Given the description of an element on the screen output the (x, y) to click on. 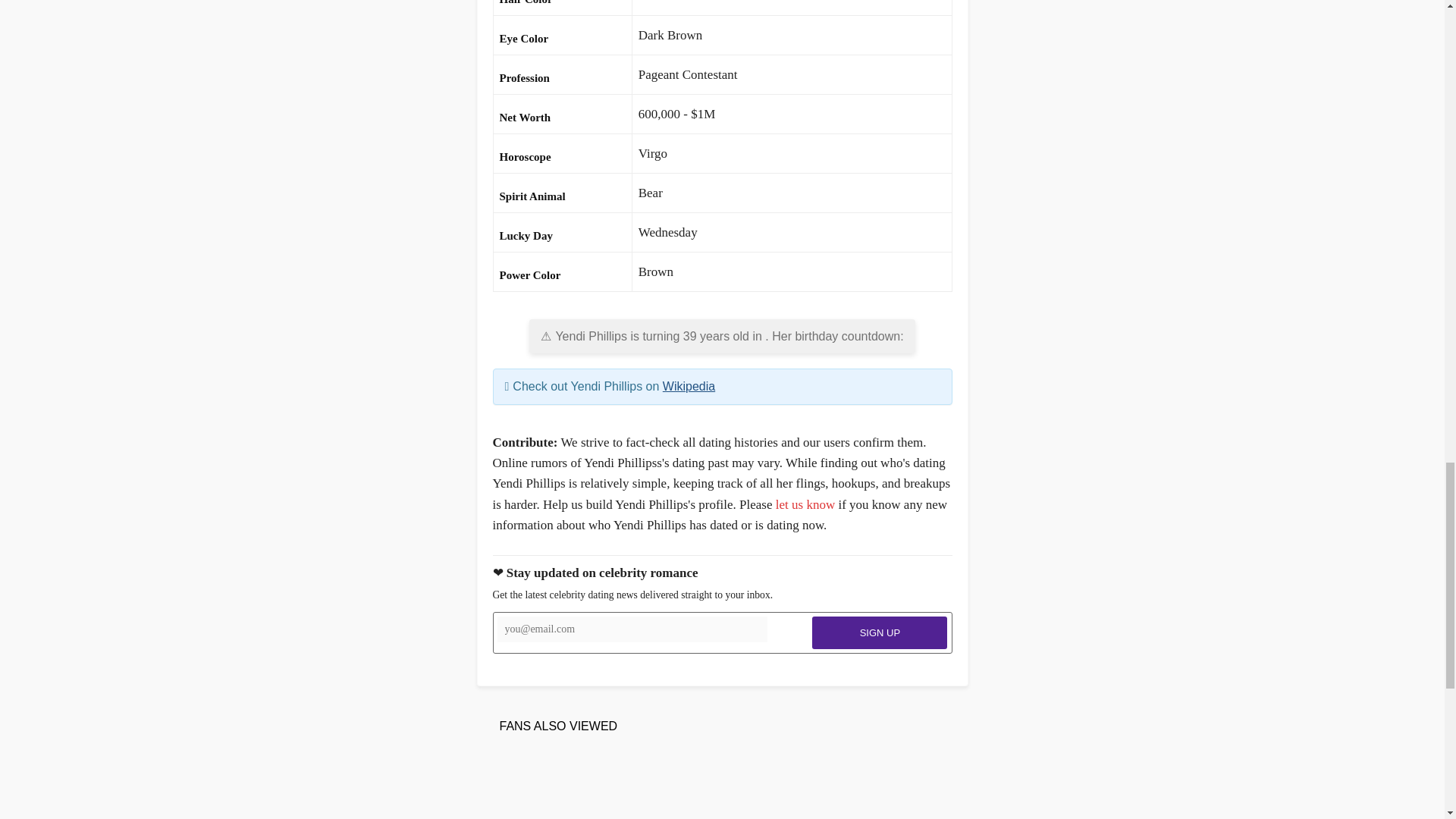
SIGN UP (879, 632)
let us know (805, 504)
Jayden Siwa (536, 787)
Wikipedia (688, 386)
SIGN UP (879, 632)
Lil Mama (629, 787)
